Given the description of an element on the screen output the (x, y) to click on. 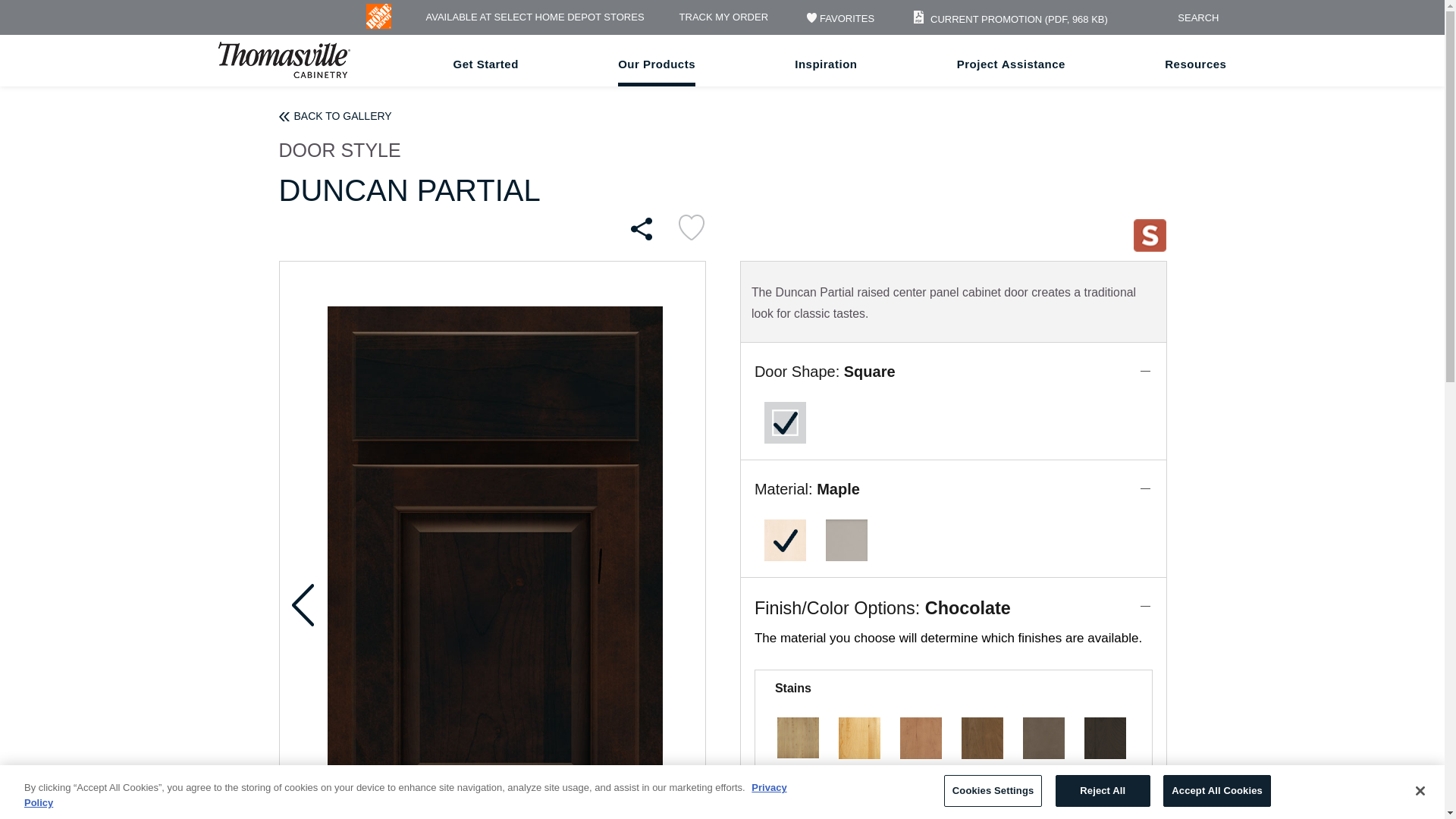
Fieldstone (1043, 737)
Shepherd (1104, 737)
Inspiration (825, 63)
Chocolate (858, 797)
Square (784, 422)
Macaroon (920, 737)
TRACK MY ORDER (723, 17)
Painted (846, 539)
Get Started (485, 63)
Maple (784, 539)
